Given the description of an element on the screen output the (x, y) to click on. 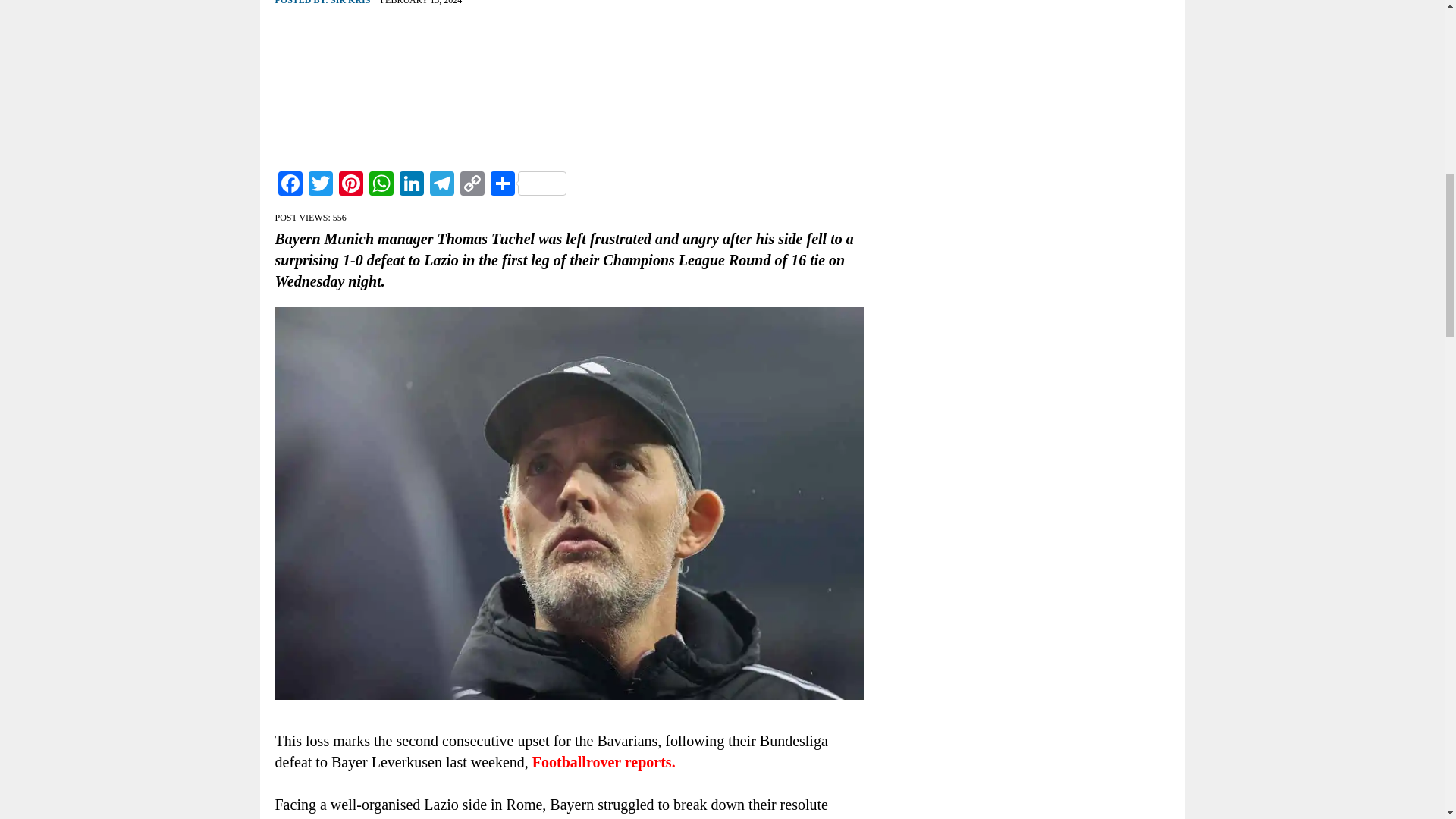
Pinterest (349, 185)
WhatsApp (380, 185)
Twitter (319, 185)
Telegram (441, 185)
LinkedIn (411, 185)
Advertisement (569, 84)
Facebook (289, 185)
